Given the description of an element on the screen output the (x, y) to click on. 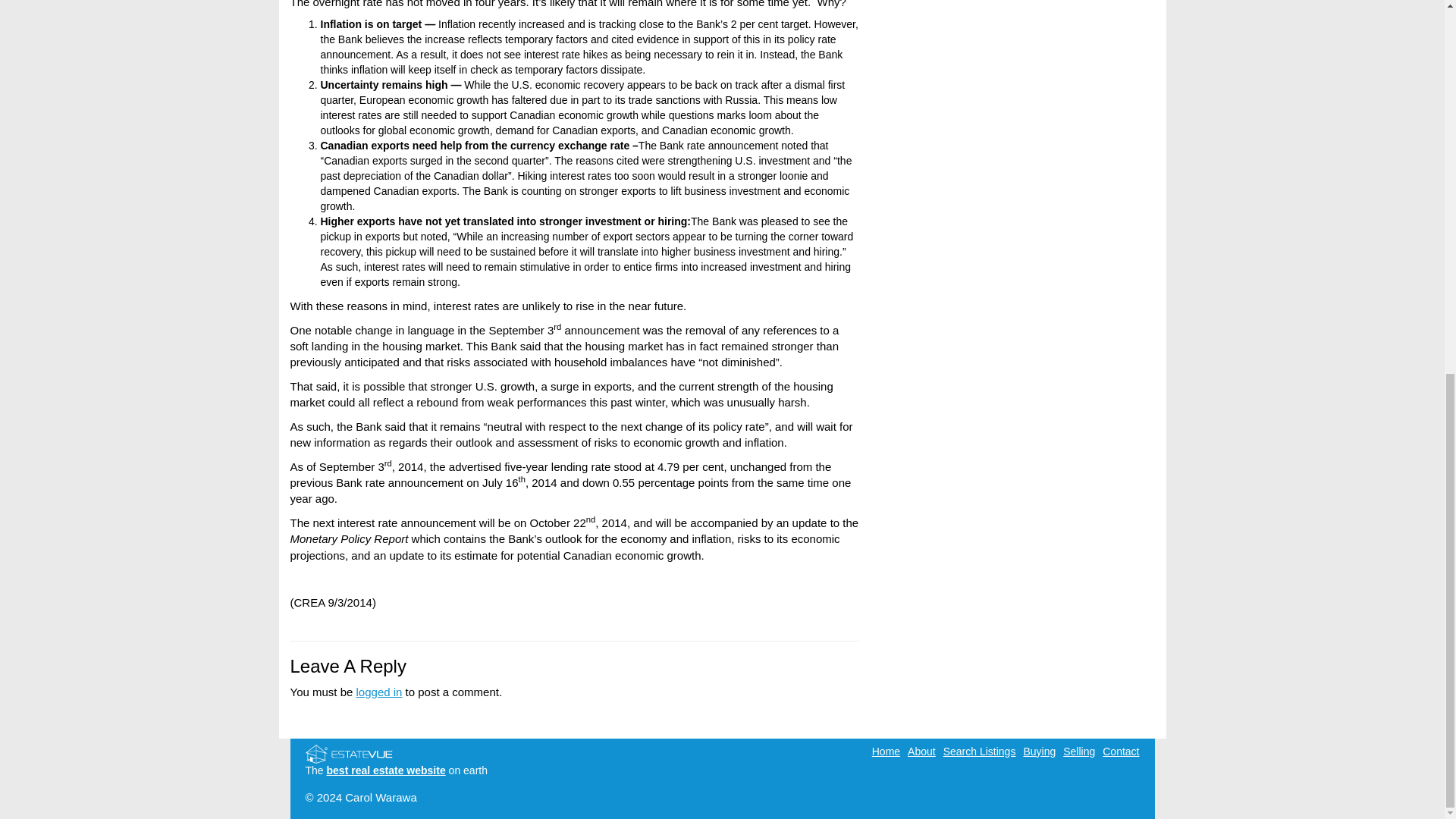
Contact (1120, 751)
Buying (1039, 751)
best real estate website (385, 770)
Home (885, 751)
best real estate website (347, 752)
Search Listings (979, 751)
About (921, 751)
logged in (379, 691)
best real estate website (385, 770)
Selling (1078, 751)
